Given the description of an element on the screen output the (x, y) to click on. 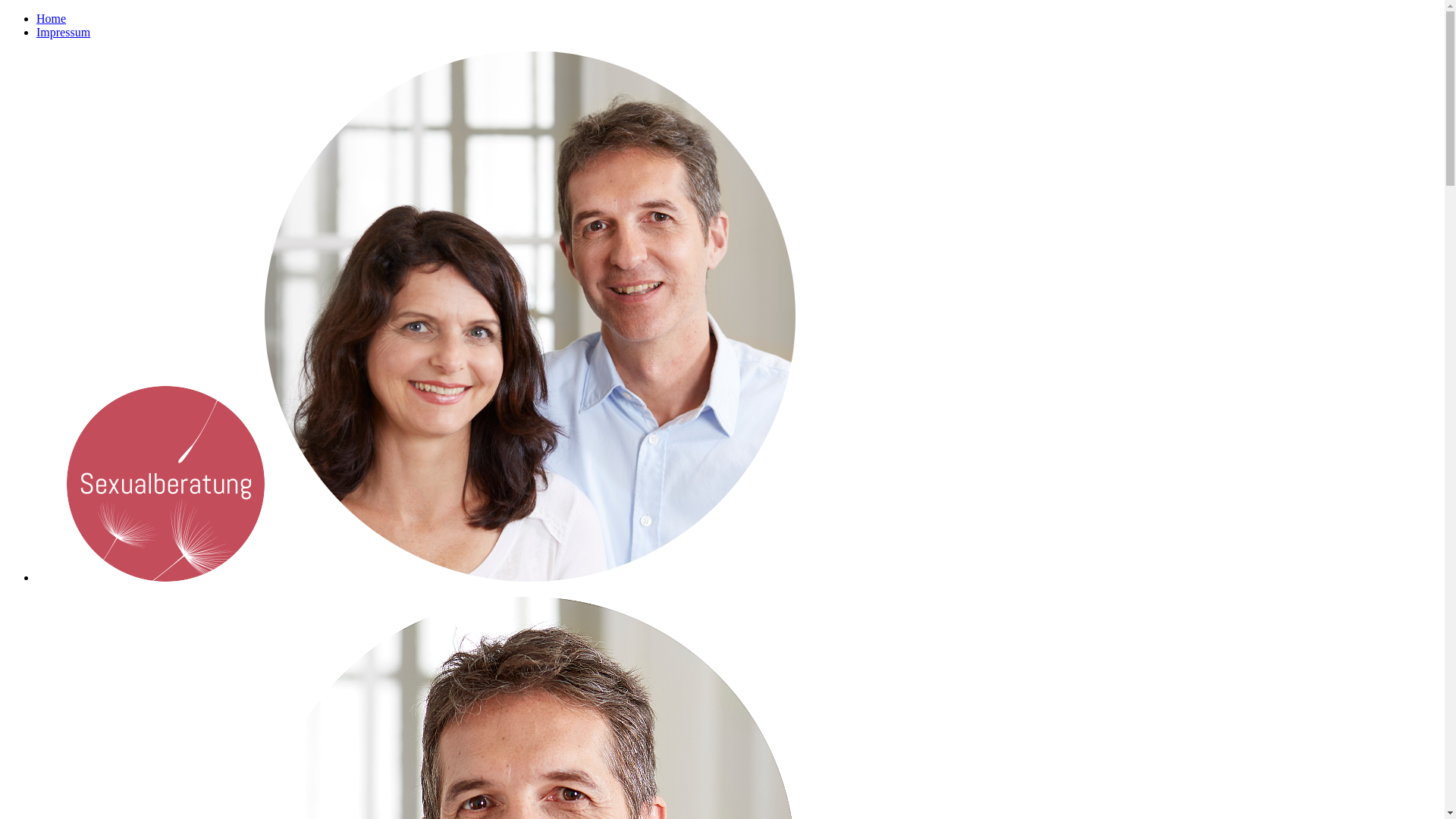
Impressum Element type: text (63, 31)
Home Element type: text (50, 18)
